Given the description of an element on the screen output the (x, y) to click on. 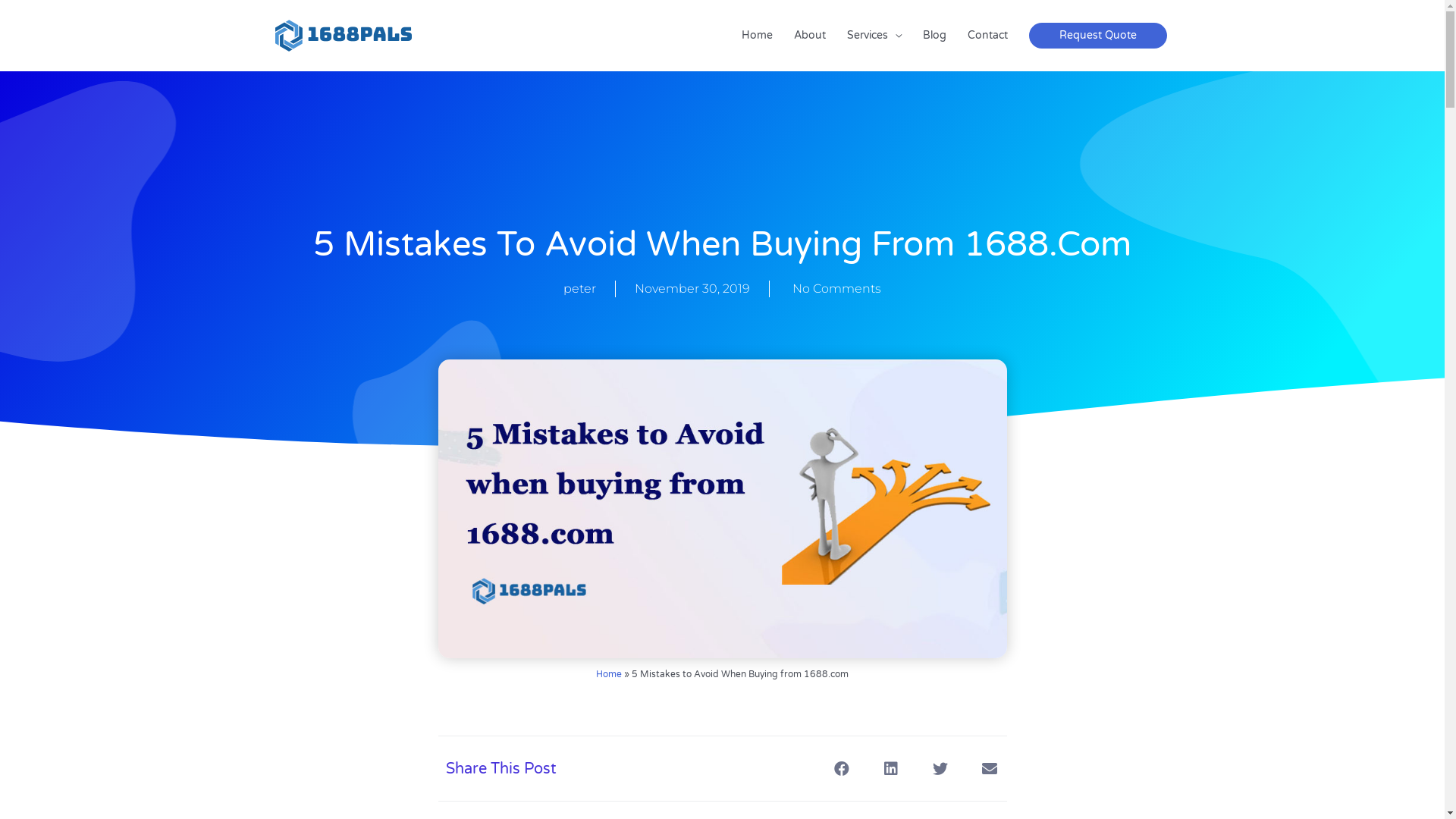
Services Element type: text (873, 35)
Blog Element type: text (933, 35)
About Element type: text (808, 35)
Request Quote Element type: text (1097, 35)
Home Element type: text (608, 673)
Contact Element type: text (987, 35)
No Comments Element type: text (834, 288)
Home Element type: text (757, 35)
November 30, 2019 Element type: text (691, 288)
